Given the description of an element on the screen output the (x, y) to click on. 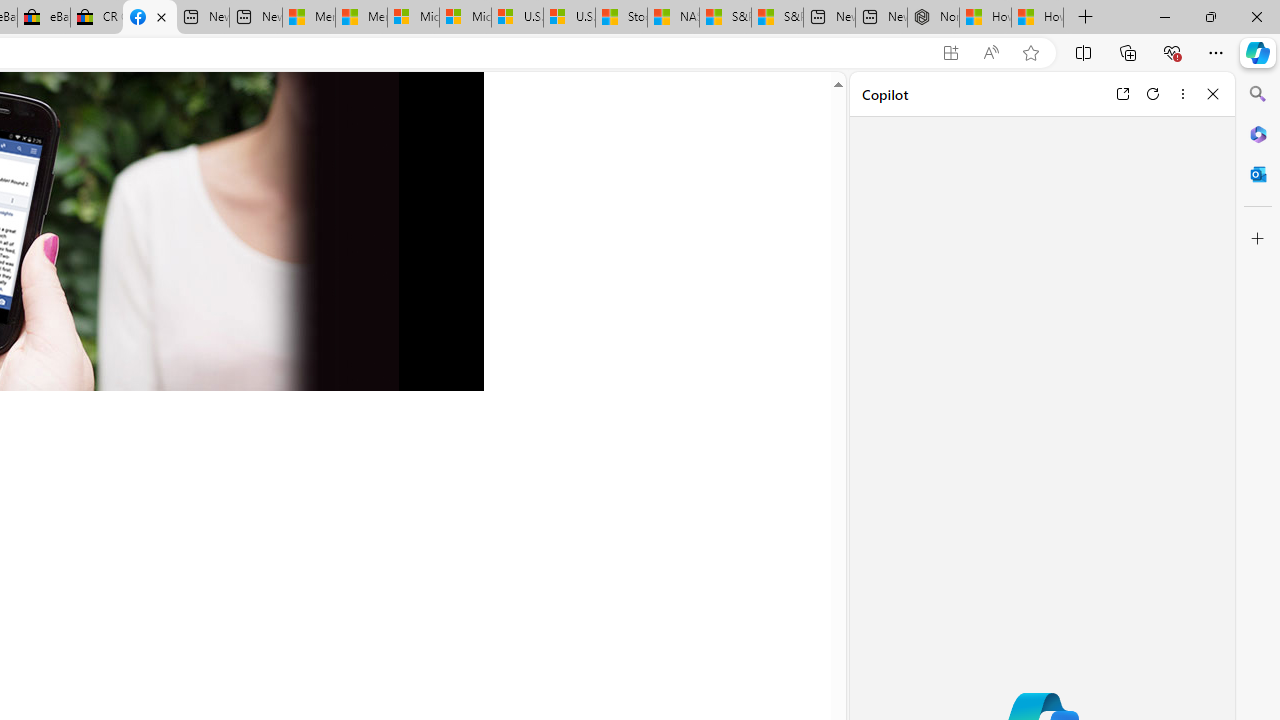
Copilot (Ctrl+Shift+.) (1258, 52)
eBay Inc. Reports Third Quarter 2023 Results (43, 17)
